Given the description of an element on the screen output the (x, y) to click on. 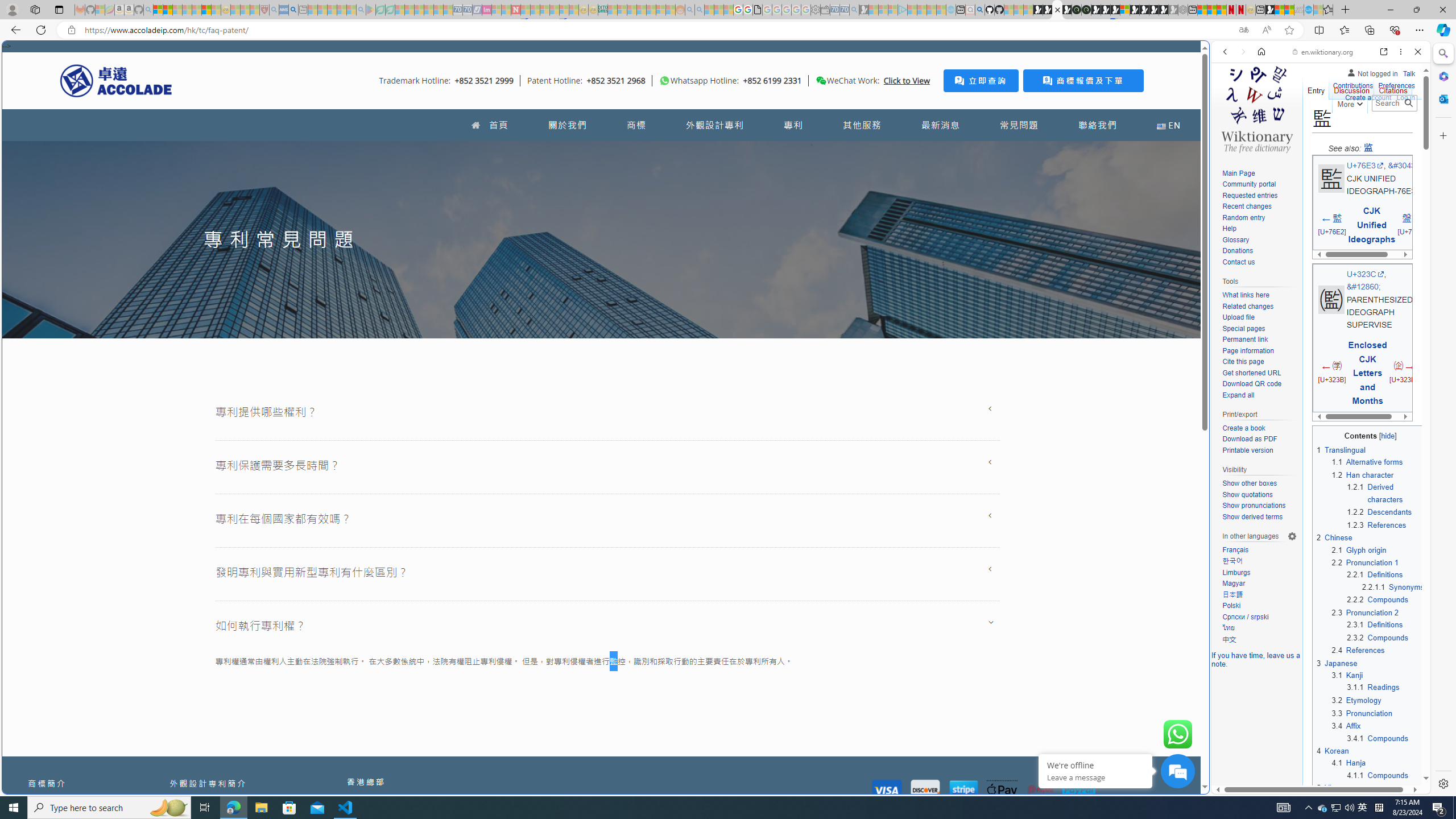
3.1.1Readings (1385, 687)
Settings - Sleeping (815, 9)
Create a book (1243, 427)
Main Page (1259, 173)
Create account (1367, 98)
Pets - MSN - Sleeping (340, 9)
